Given the description of an element on the screen output the (x, y) to click on. 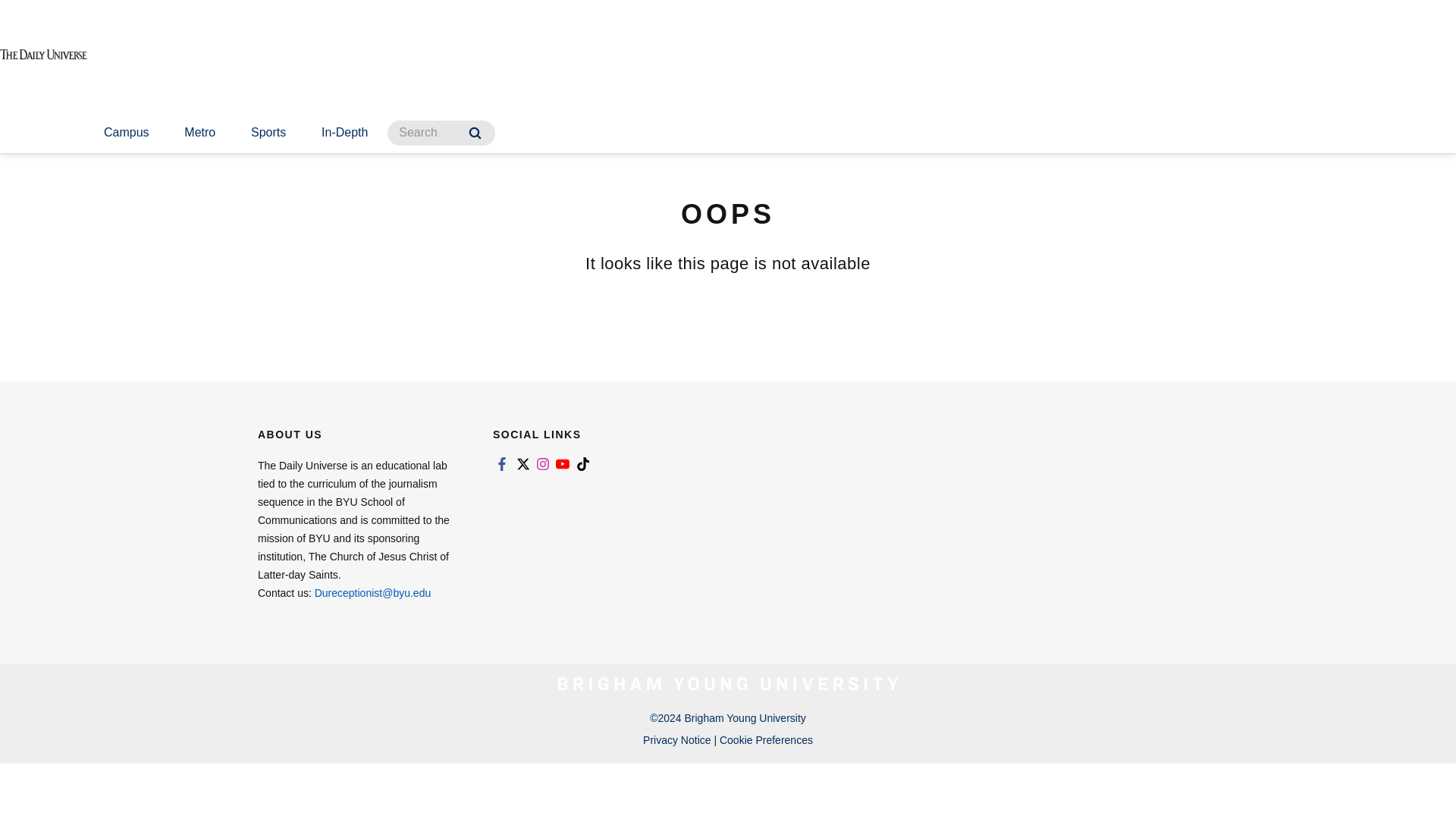
Link to instagram (542, 463)
Link to youtube (562, 463)
Campus (126, 133)
Privacy Notice (676, 739)
In-Depth (344, 133)
Link to facebook (502, 463)
Sports (268, 133)
Cookie Preferences (765, 739)
Link to twitter (522, 463)
Metro (199, 133)
